Given the description of an element on the screen output the (x, y) to click on. 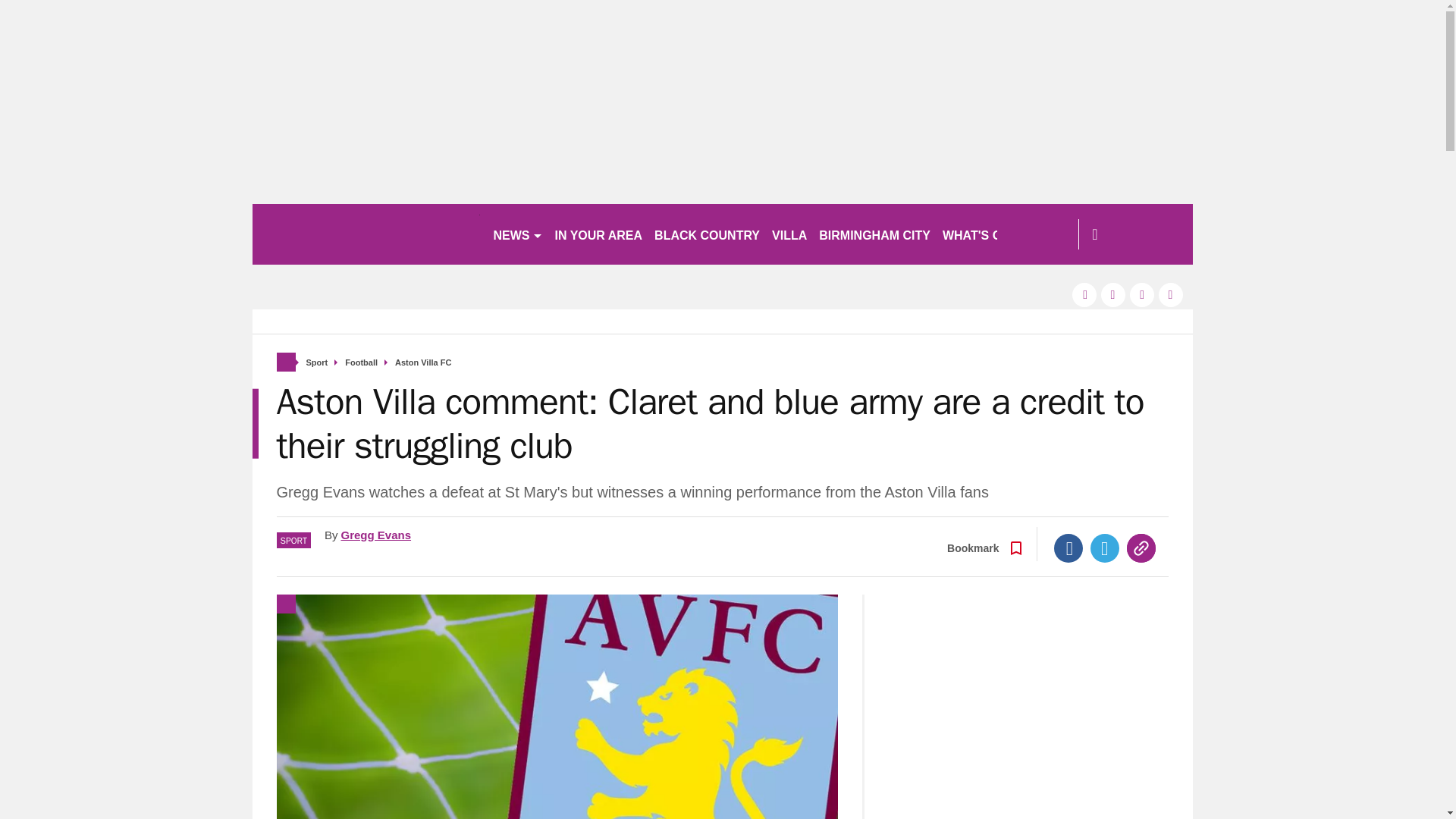
VILLA (788, 233)
IN YOUR AREA (598, 233)
WHAT'S ON (982, 233)
Twitter (1104, 547)
twitter (1112, 294)
BIRMINGHAM CITY (874, 233)
facebook (1083, 294)
tiktok (1141, 294)
instagram (1170, 294)
NEWS (517, 233)
BLACK COUNTRY (706, 233)
Facebook (1068, 547)
birminghammail (365, 233)
